Given the description of an element on the screen output the (x, y) to click on. 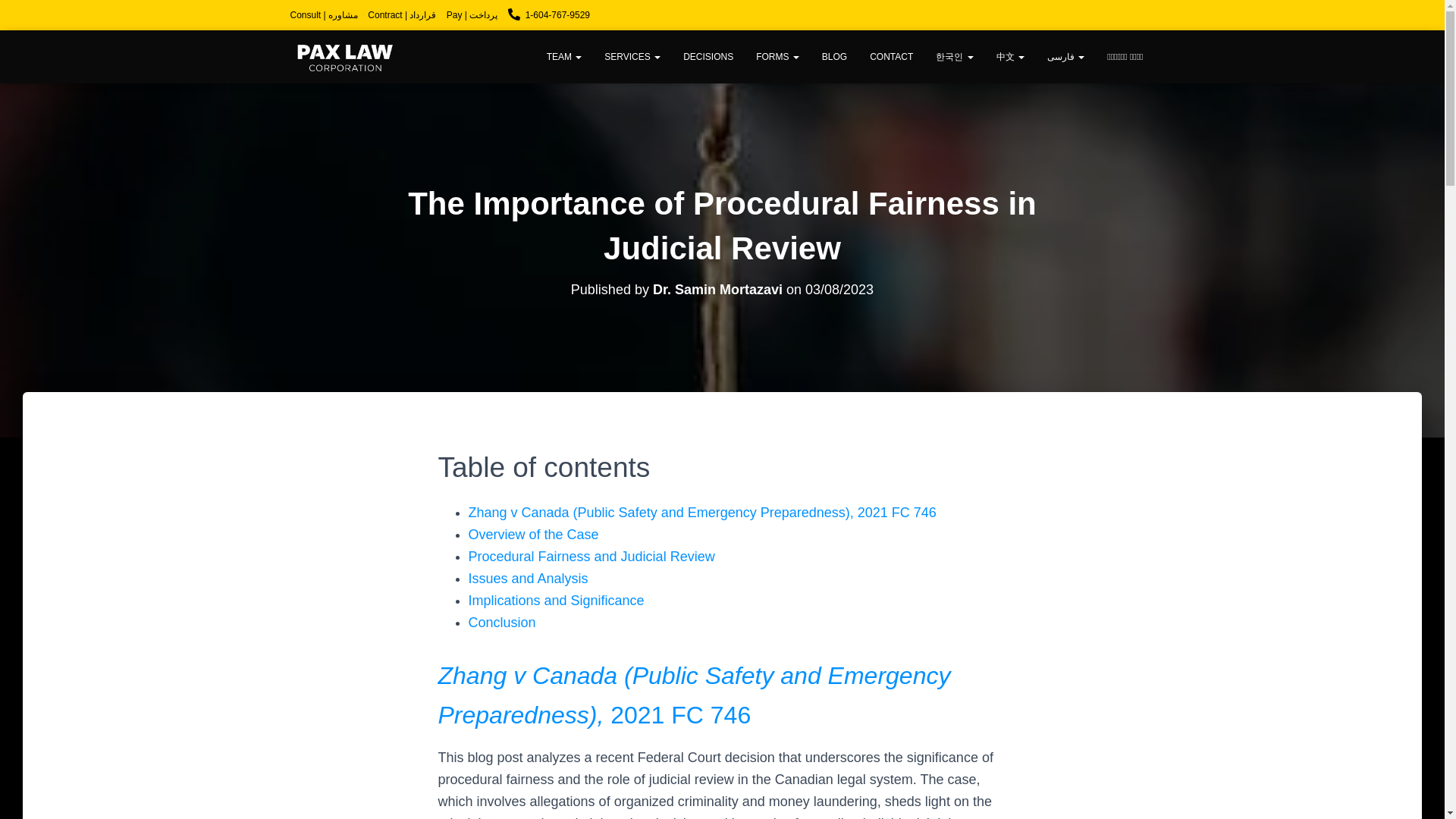
1-604-767-9529 (548, 15)
Pax Law Corporation (344, 56)
1-604-767-9529 (548, 15)
TEAM (564, 56)
Team (564, 56)
SERVICES (631, 56)
